Given the description of an element on the screen output the (x, y) to click on. 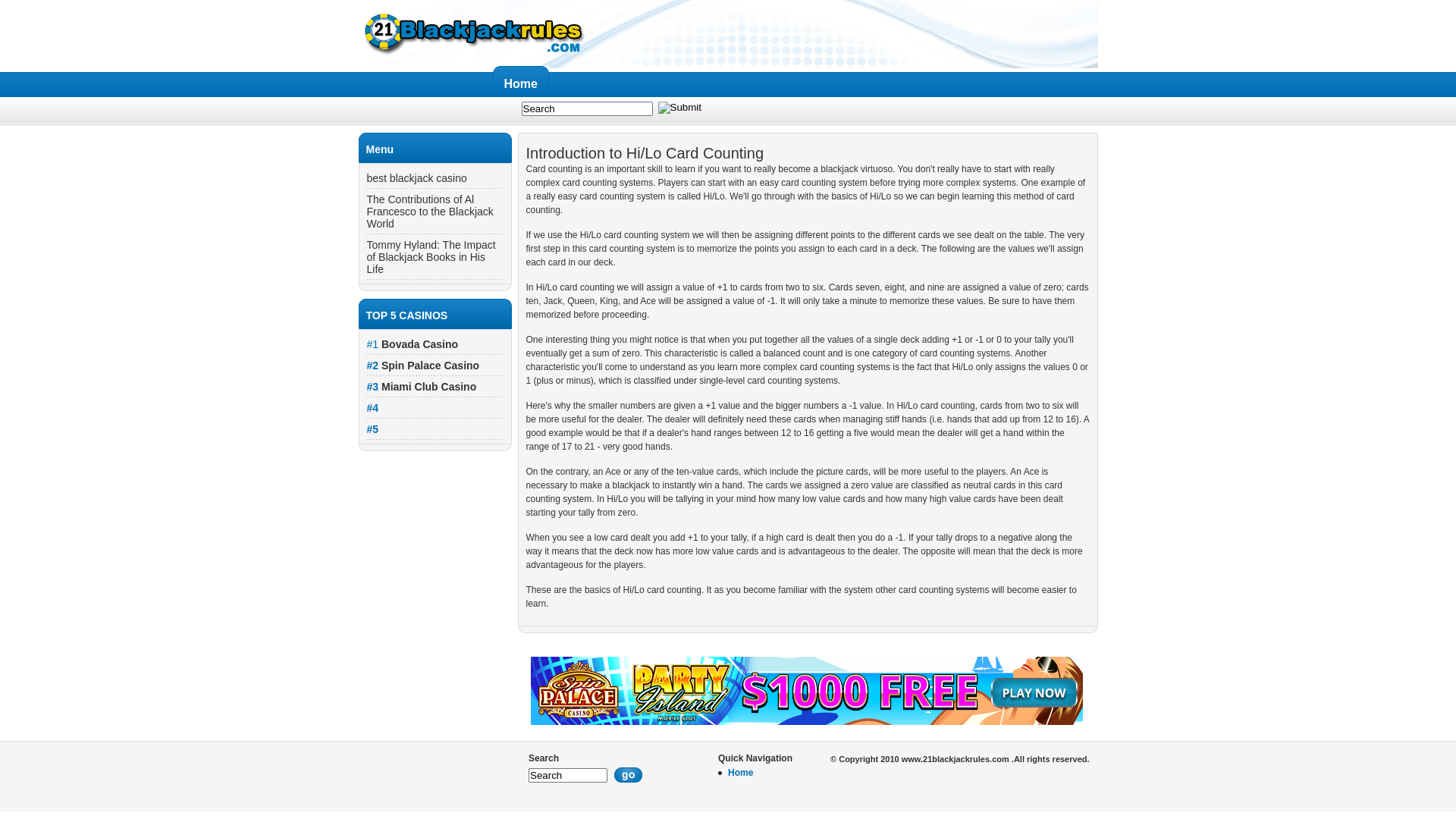
#3 Miami Club Casino Element type: text (421, 386)
The Contributions of Al Francesco to the Blackjack World Element type: text (430, 211)
Home Element type: text (740, 772)
#2 Spin Palace Casino Element type: text (423, 365)
#4 Element type: text (373, 407)
best blackjack casino Element type: text (417, 178)
Bovada Casino Element type: text (419, 344)
Home Element type: text (523, 80)
Tommy Hyland: The Impact of Blackjack Books in His Life Element type: text (431, 256)
#5 Element type: text (373, 429)
